Given the description of an element on the screen output the (x, y) to click on. 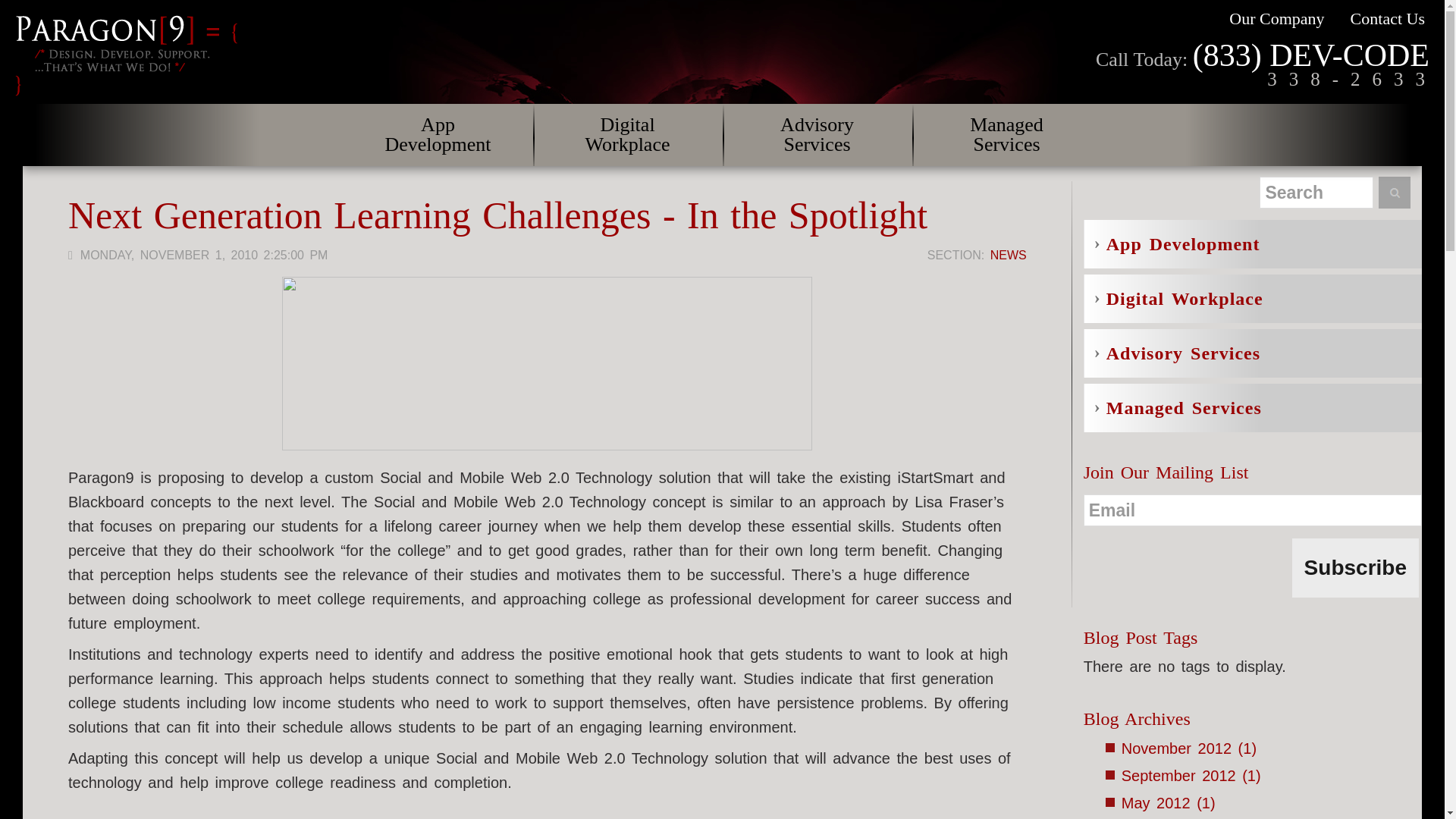
Contact Us (1387, 18)
App Development (437, 135)
Advisory Services (816, 135)
Home (125, 54)
Our Company (1276, 18)
Managed Services (1006, 135)
Digital Workplace (626, 135)
